Given the description of an element on the screen output the (x, y) to click on. 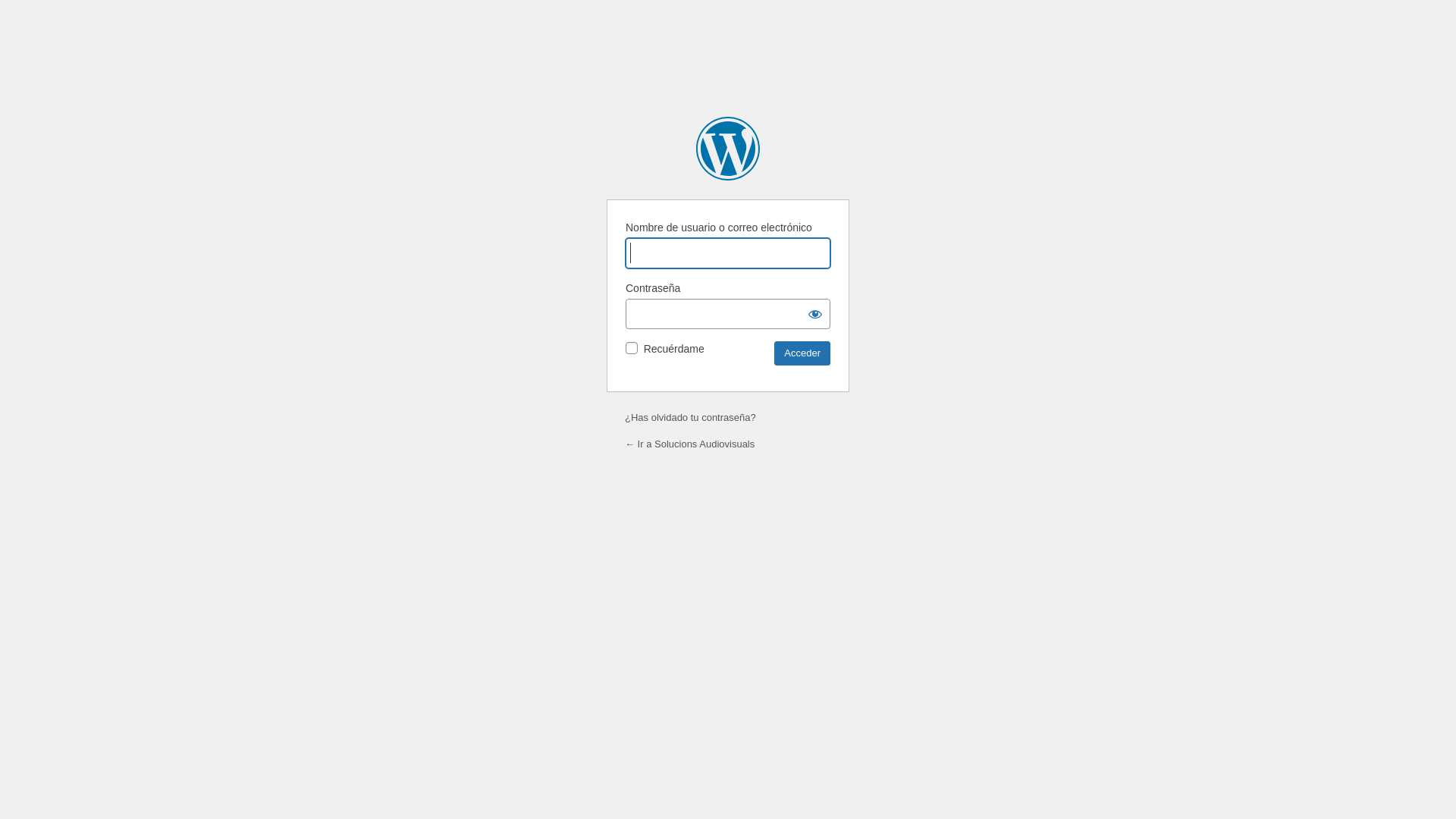
Acceder Element type: text (802, 353)
Funciona con WordPress Element type: text (727, 148)
